Given the description of an element on the screen output the (x, y) to click on. 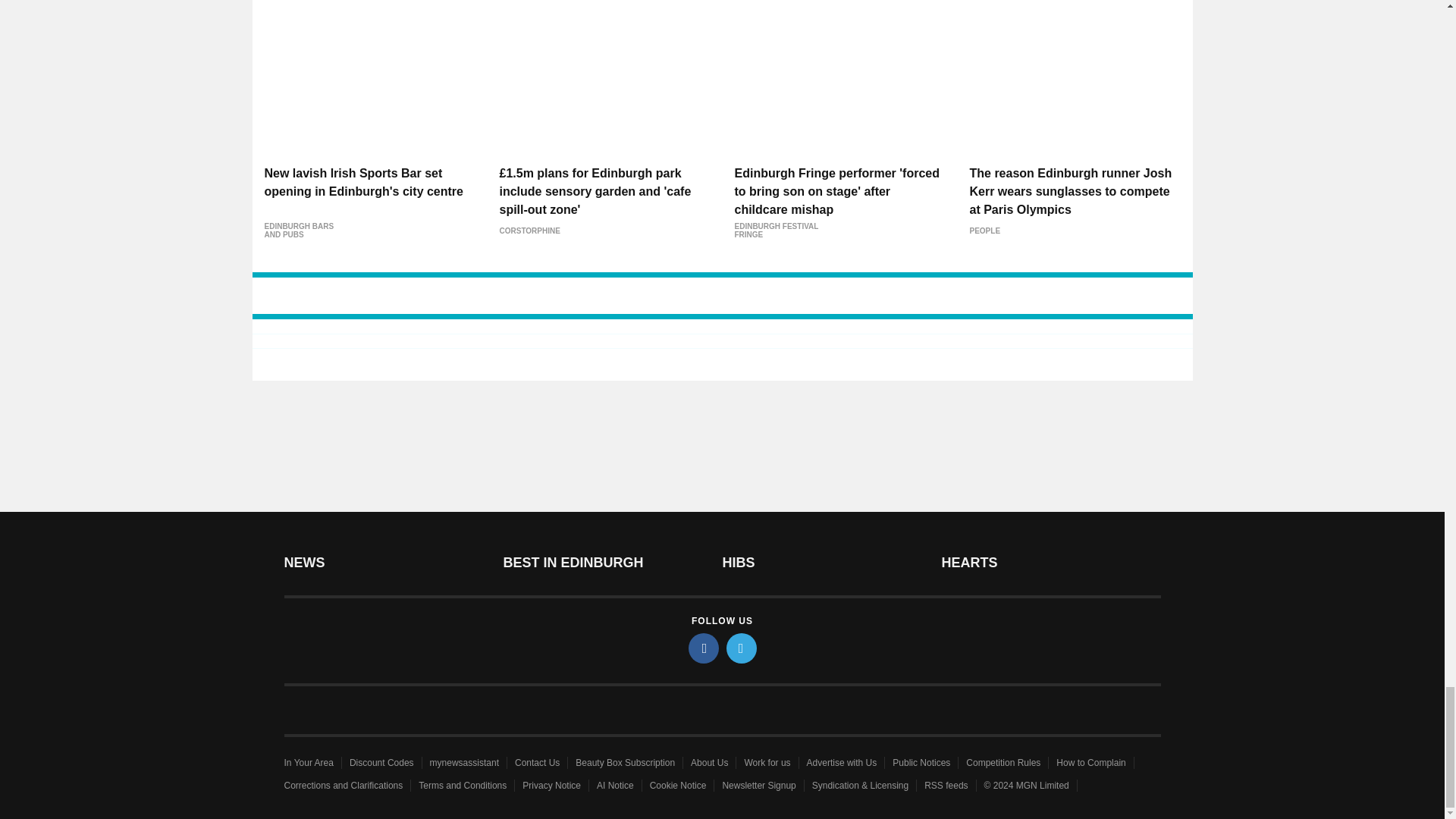
twitter (741, 648)
facebook (703, 648)
